Given the description of an element on the screen output the (x, y) to click on. 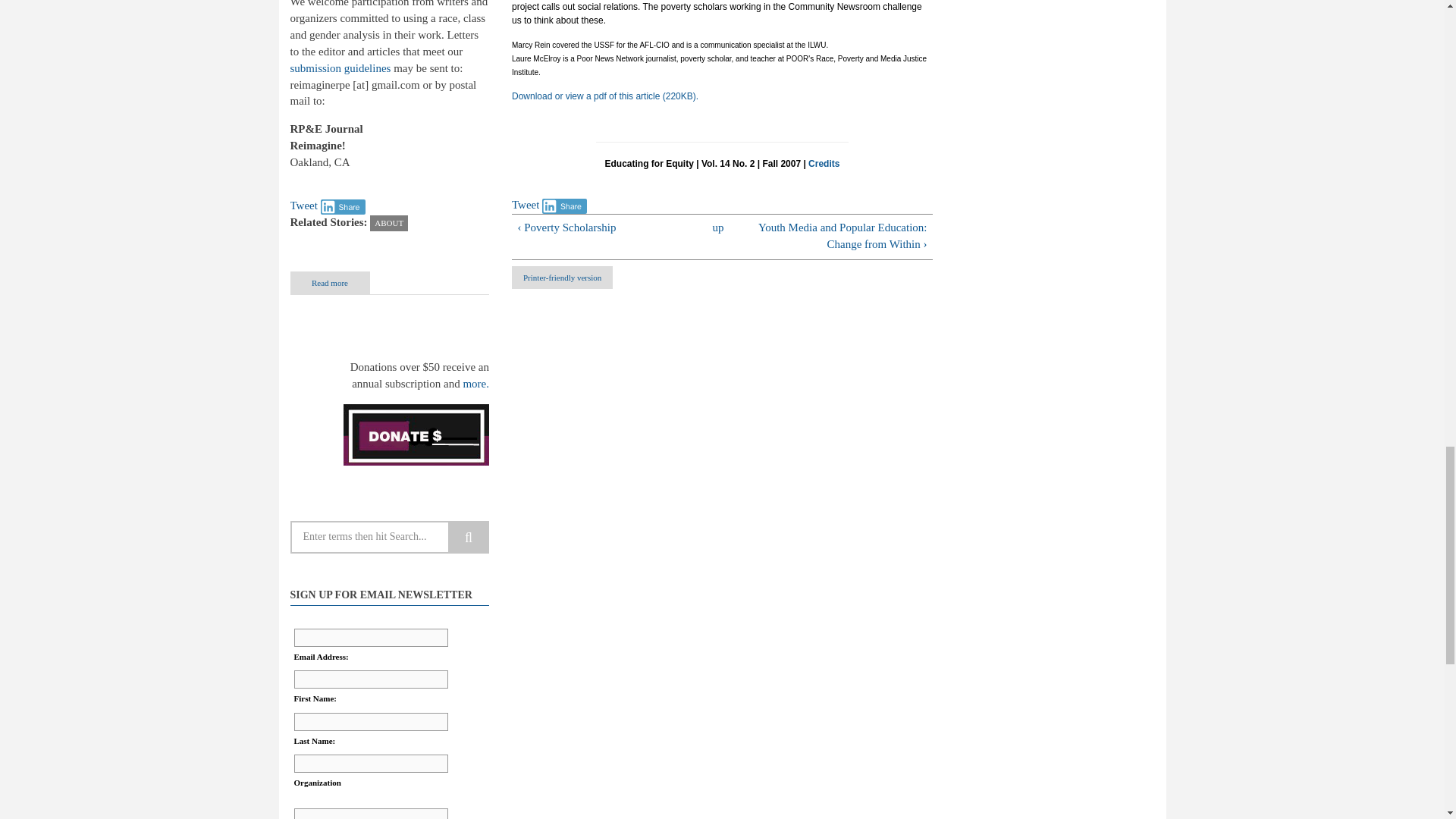
Enter terms then hit Search... (389, 536)
